Given the description of an element on the screen output the (x, y) to click on. 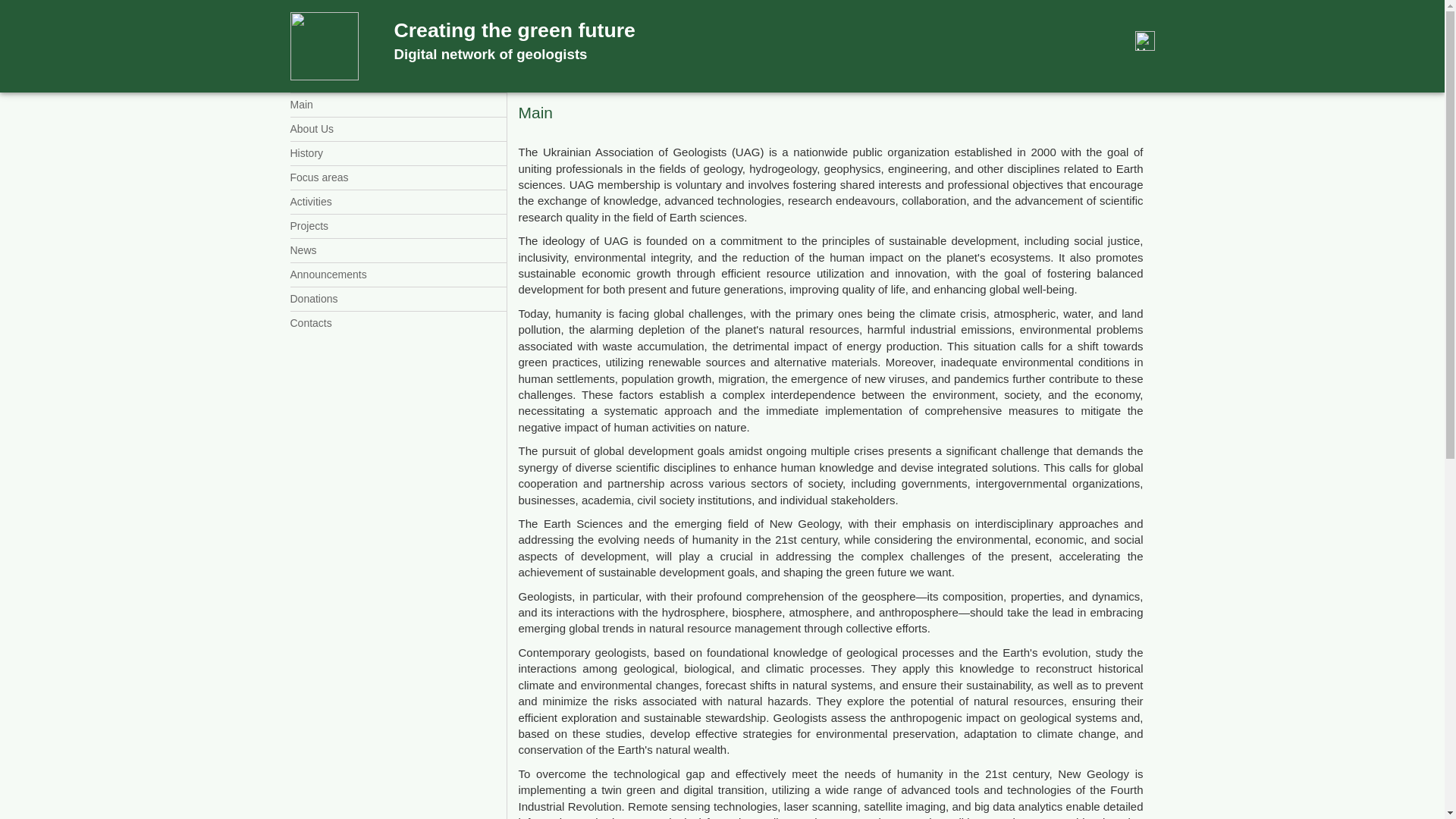
Main (397, 104)
